Given the description of an element on the screen output the (x, y) to click on. 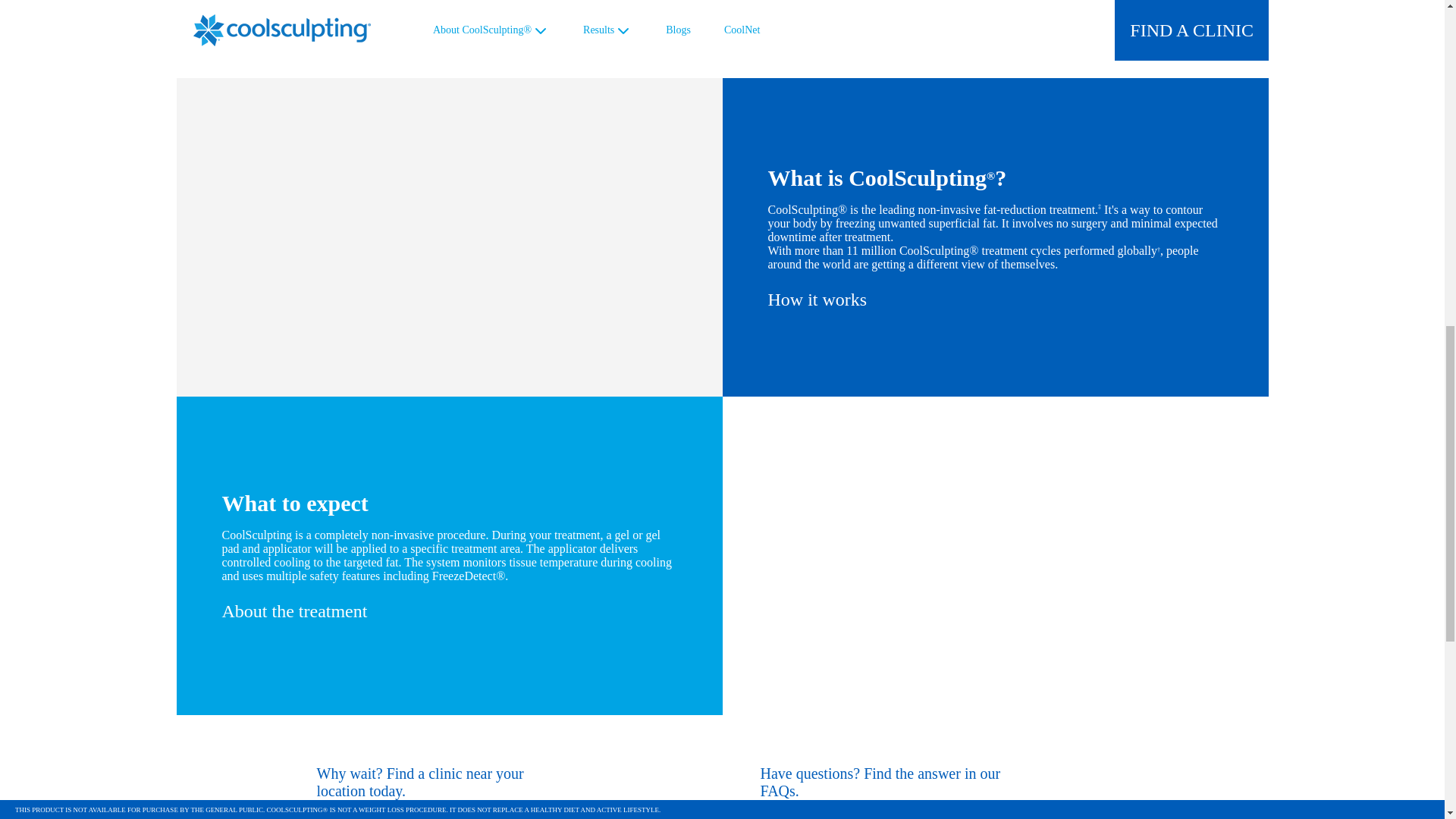
Why wait? Find a clinic near your location today. (460, 782)
Have questions? Find the answer in our FAQs. (903, 782)
How it works (816, 298)
About the treatment (293, 609)
